Given the description of an element on the screen output the (x, y) to click on. 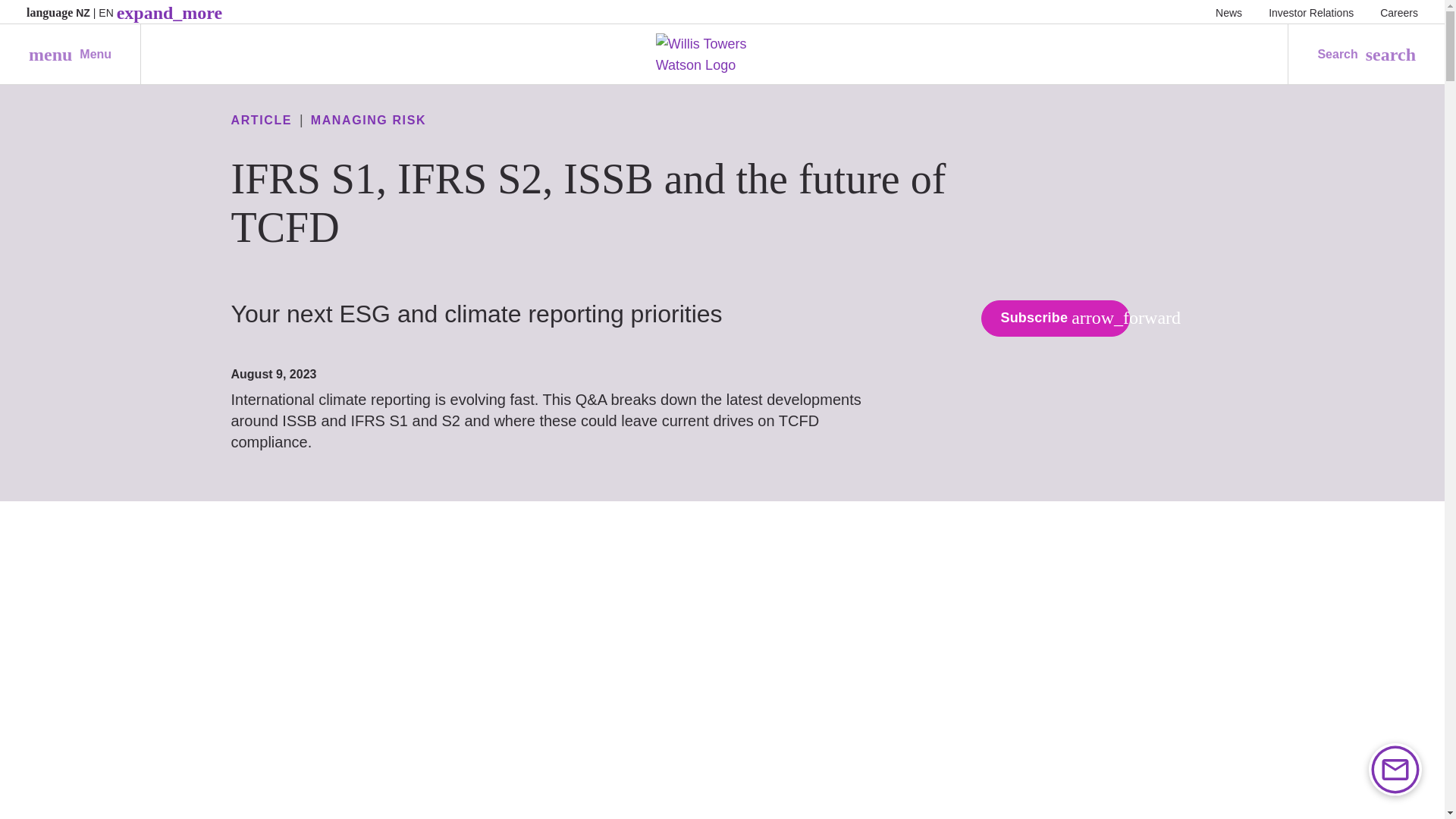
Investor Relations (1311, 12)
News (69, 54)
Careers (1228, 12)
